Given the description of an element on the screen output the (x, y) to click on. 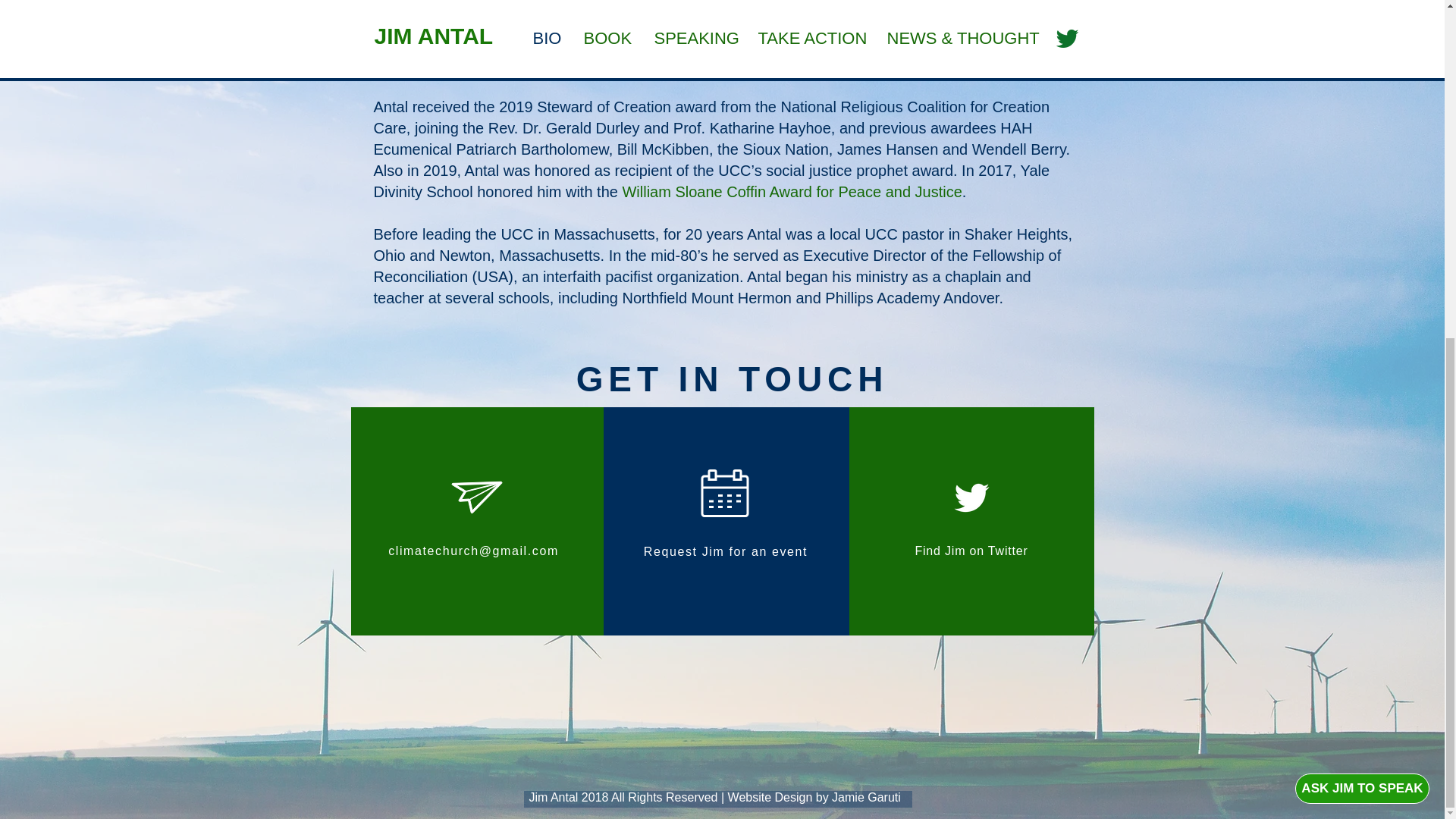
ASK JIM TO SPEAK (1362, 217)
declare a new moral era (596, 21)
vote to divest (678, 4)
UCC national Synod became the first Christian denomination (809, 43)
William Sloane Coffin Award for Peace and Justice (790, 191)
endorse the Green New Deal (470, 64)
